Given the description of an element on the screen output the (x, y) to click on. 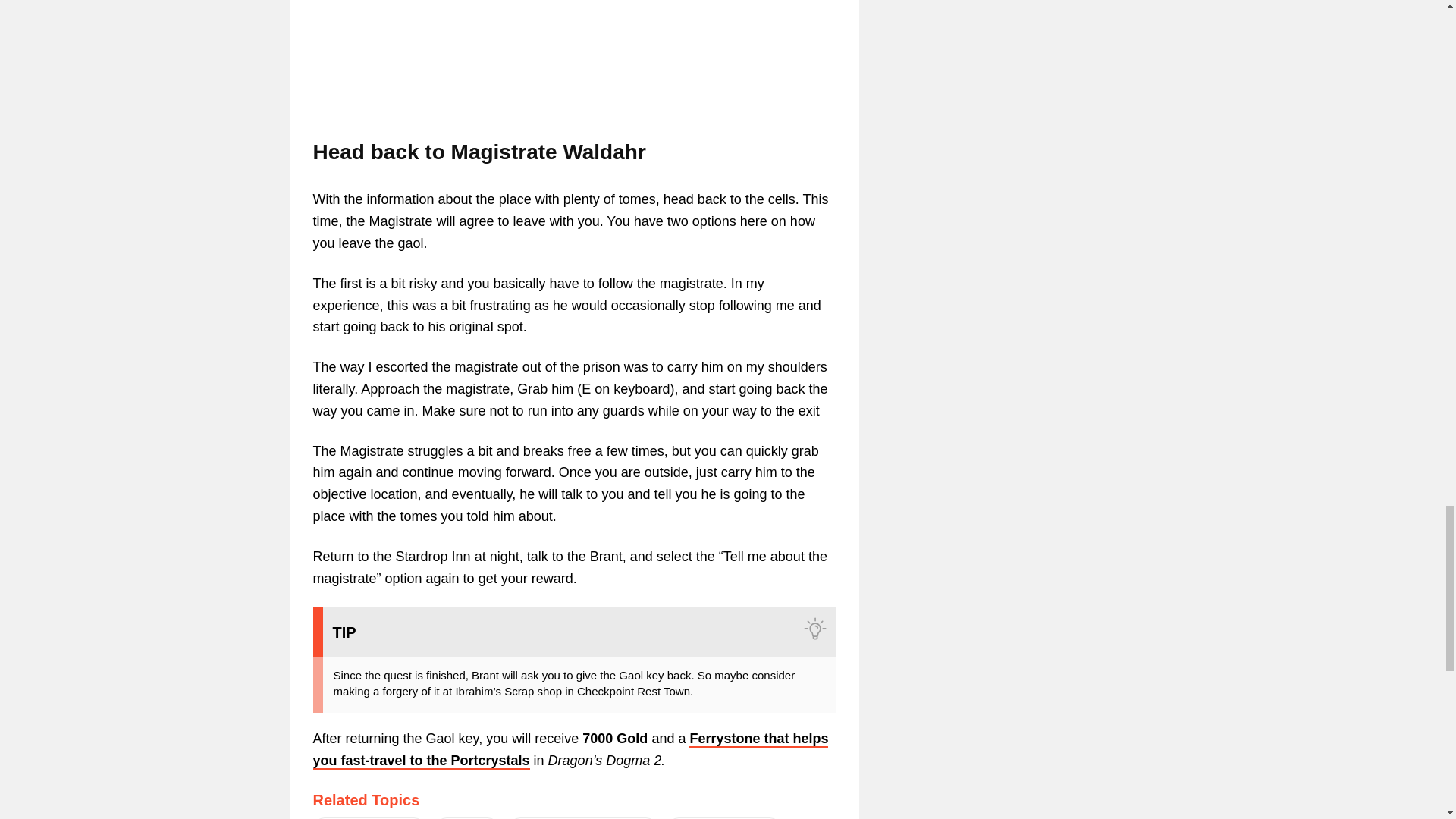
Ferrystone that helps you fast-travel to the Portcrystals (570, 750)
Capcom (467, 818)
Dragon's Dogma 2 (369, 818)
